Given the description of an element on the screen output the (x, y) to click on. 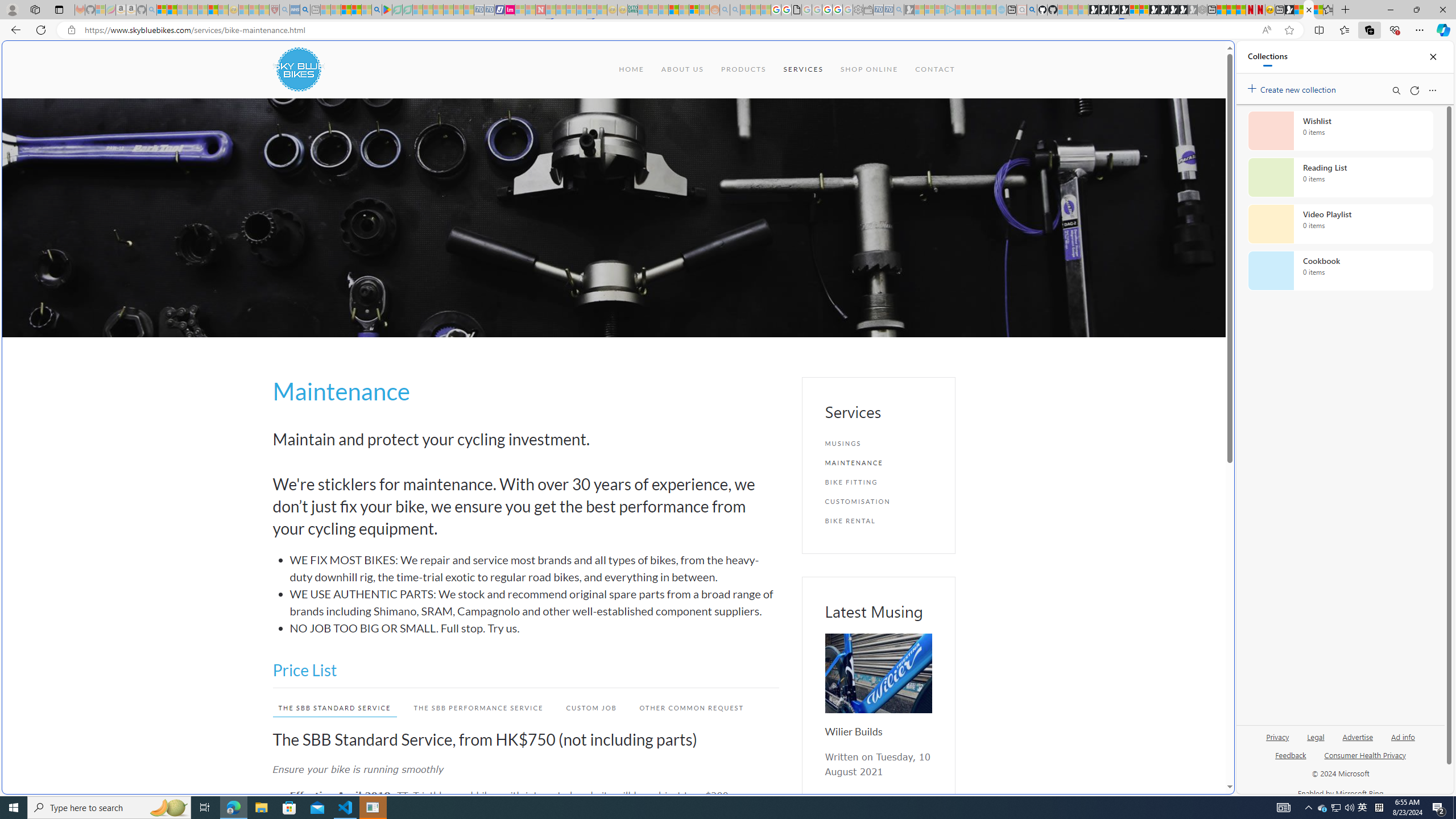
Play Cave FRVR in your browser | Games from Microsoft Start (922, 242)
CUSTOMISATION (878, 501)
Split screen (1318, 29)
Class: wk-position-cover (877, 673)
list of asthma inhalers uk - Search - Sleeping (284, 9)
Cheap Car Rentals - Save70.com - Sleeping (888, 9)
Microsoft Start Gaming - Sleeping (908, 9)
Bing Real Estate - Home sales and rental listings - Sleeping (898, 9)
Collections (1369, 29)
Recipes - MSN - Sleeping (243, 9)
Legal (1315, 736)
